Given the description of an element on the screen output the (x, y) to click on. 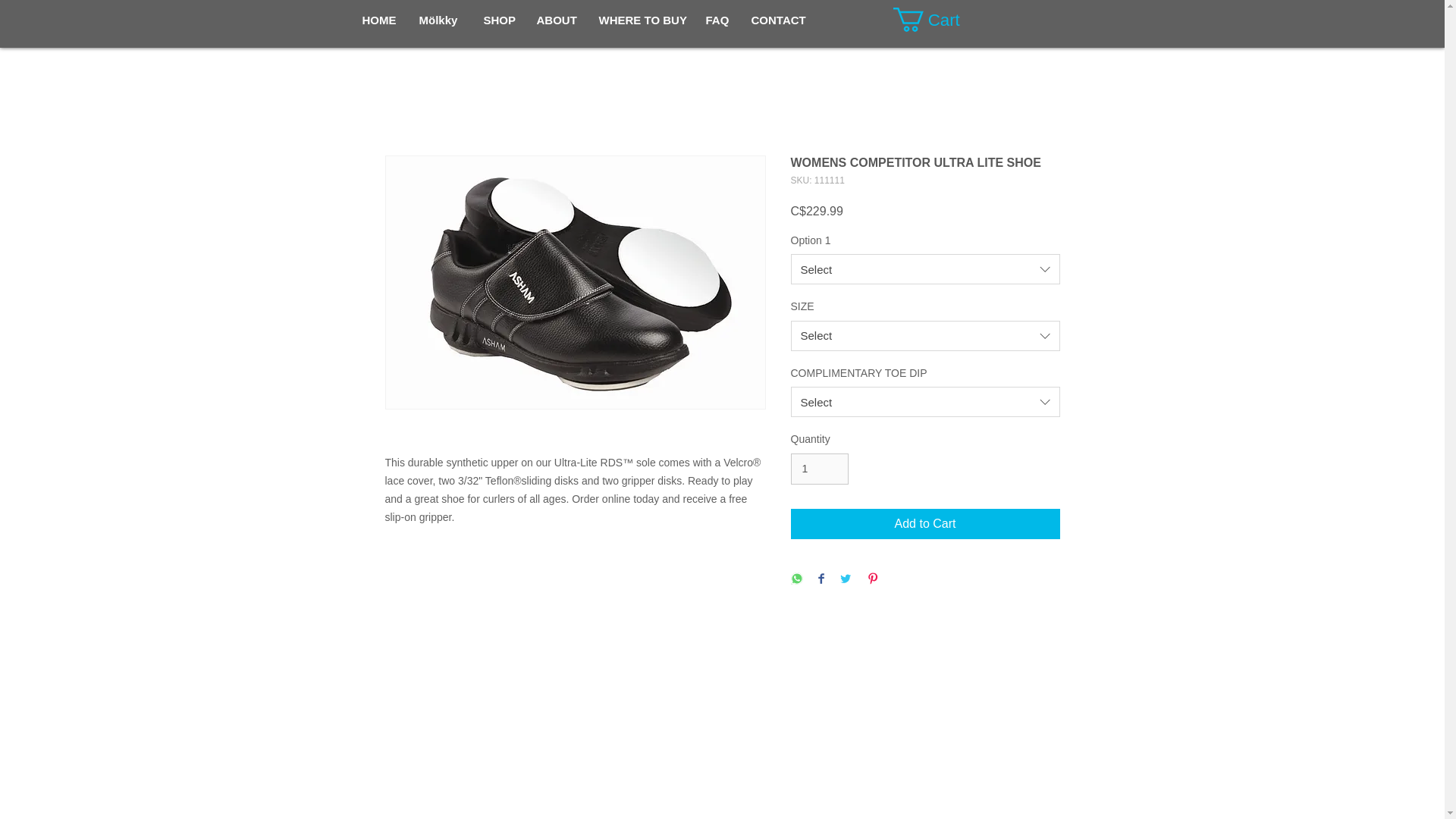
ABOUT (555, 20)
HOME (378, 20)
Select (924, 401)
Add to Cart (924, 523)
Cart (940, 19)
Select (924, 268)
SHOP (497, 20)
WHERE TO BUY (640, 20)
Select (924, 336)
1 (818, 468)
